Given the description of an element on the screen output the (x, y) to click on. 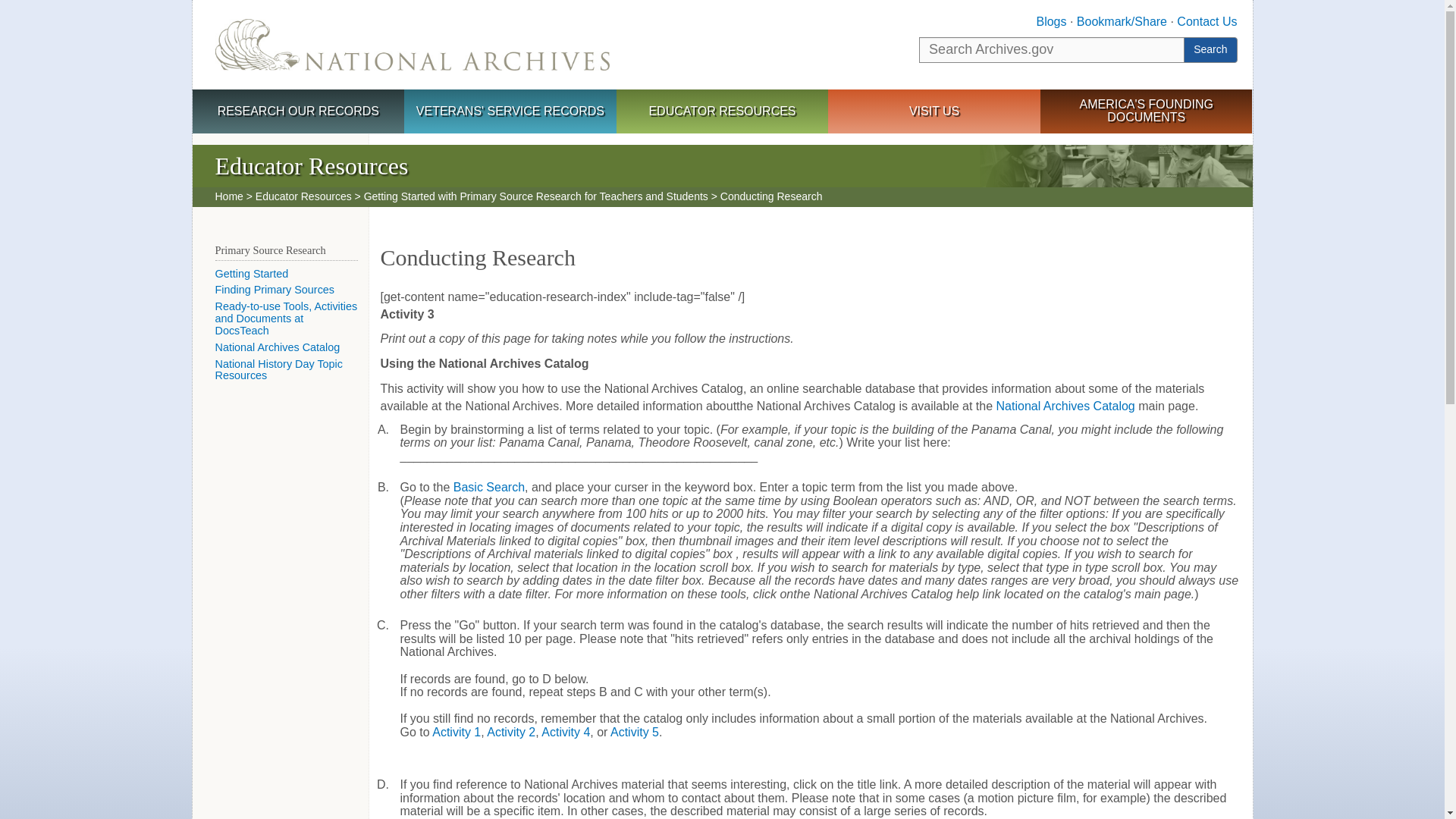
Home (229, 196)
AMERICA'S FOUNDING DOCUMENTS (1146, 111)
Search (1209, 49)
Getting Started (251, 273)
National History Day Topic Resources (279, 369)
National Archives Catalog (1065, 405)
Contact Us (1206, 21)
Blogs (1050, 21)
